Given the description of an element on the screen output the (x, y) to click on. 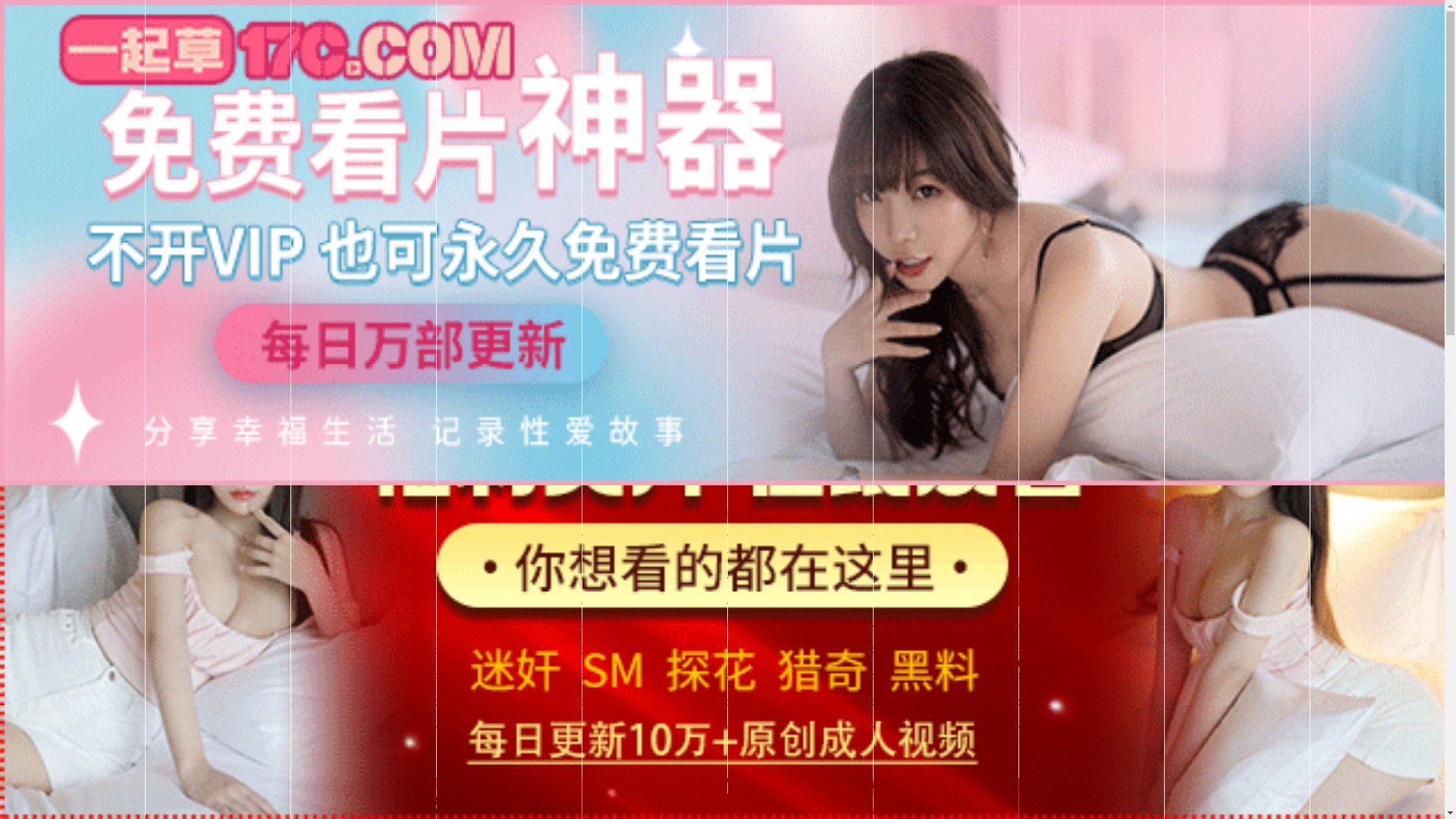
91TV Element type: hover (1240, 593)
3P Element type: text (968, 663)
COS Element type: text (835, 688)
Korean Element type: text (700, 663)
SM Element type: text (1013, 663)
91 Element type: text (567, 636)
